Given the description of an element on the screen output the (x, y) to click on. 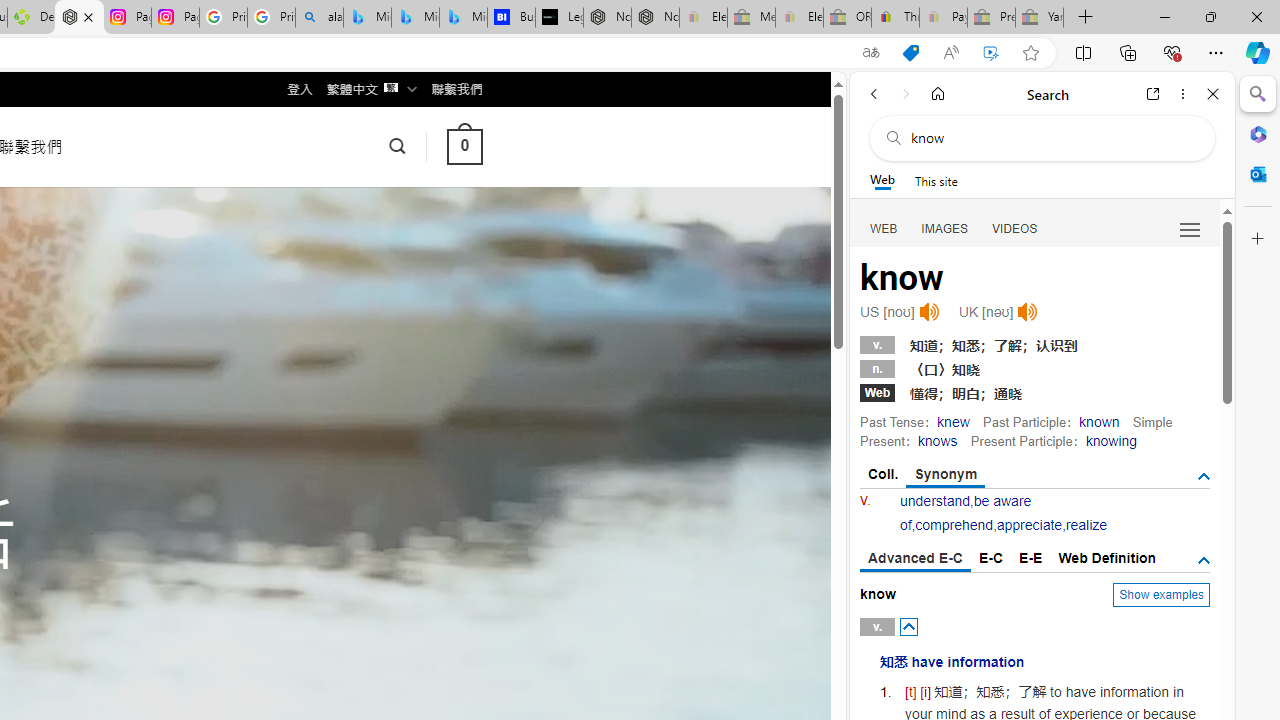
Yard, Garden & Outdoor Living - Sleeping (1039, 17)
Show translate options (870, 53)
comprehend (954, 524)
alabama high school quarterback dies - Search (319, 17)
AutomationID: tgdef (1203, 561)
be aware of (965, 512)
